Given the description of an element on the screen output the (x, y) to click on. 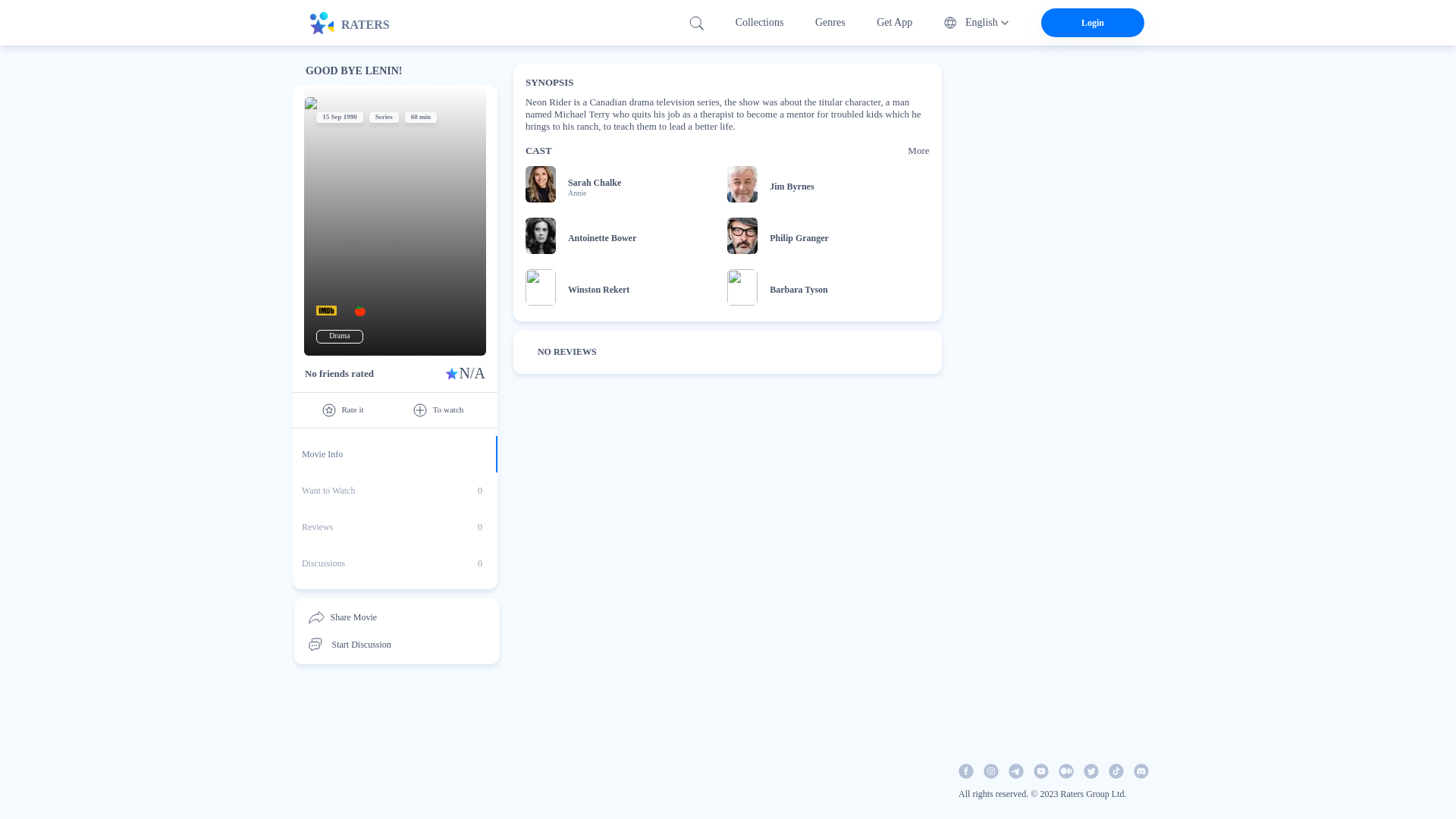
Drama (339, 335)
RATERS (357, 22)
Philip Granger (394, 490)
Antoinette Bower (394, 508)
Jim Byrnes (799, 238)
Search (601, 238)
Login (791, 186)
Sarah Chalke (394, 526)
Movie Info (394, 563)
